Given the description of an element on the screen output the (x, y) to click on. 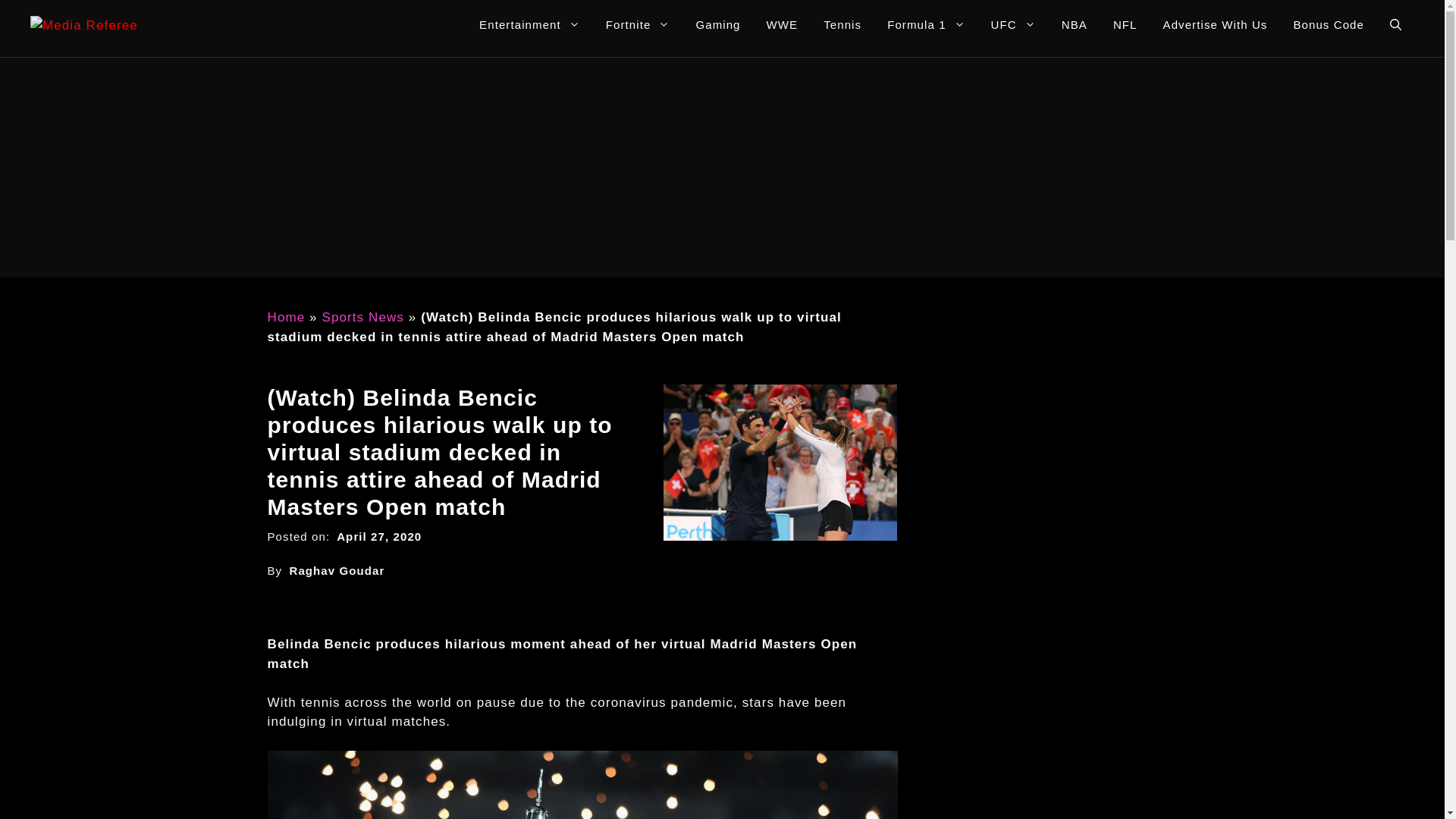
NFL (1125, 25)
Raghav Goudar (336, 570)
Fortnite (637, 25)
Home (285, 317)
Bonus Code (1328, 25)
UFC (1013, 25)
Entertainment (528, 25)
Sports News (362, 317)
Formula 1 (925, 25)
